Given the description of an element on the screen output the (x, y) to click on. 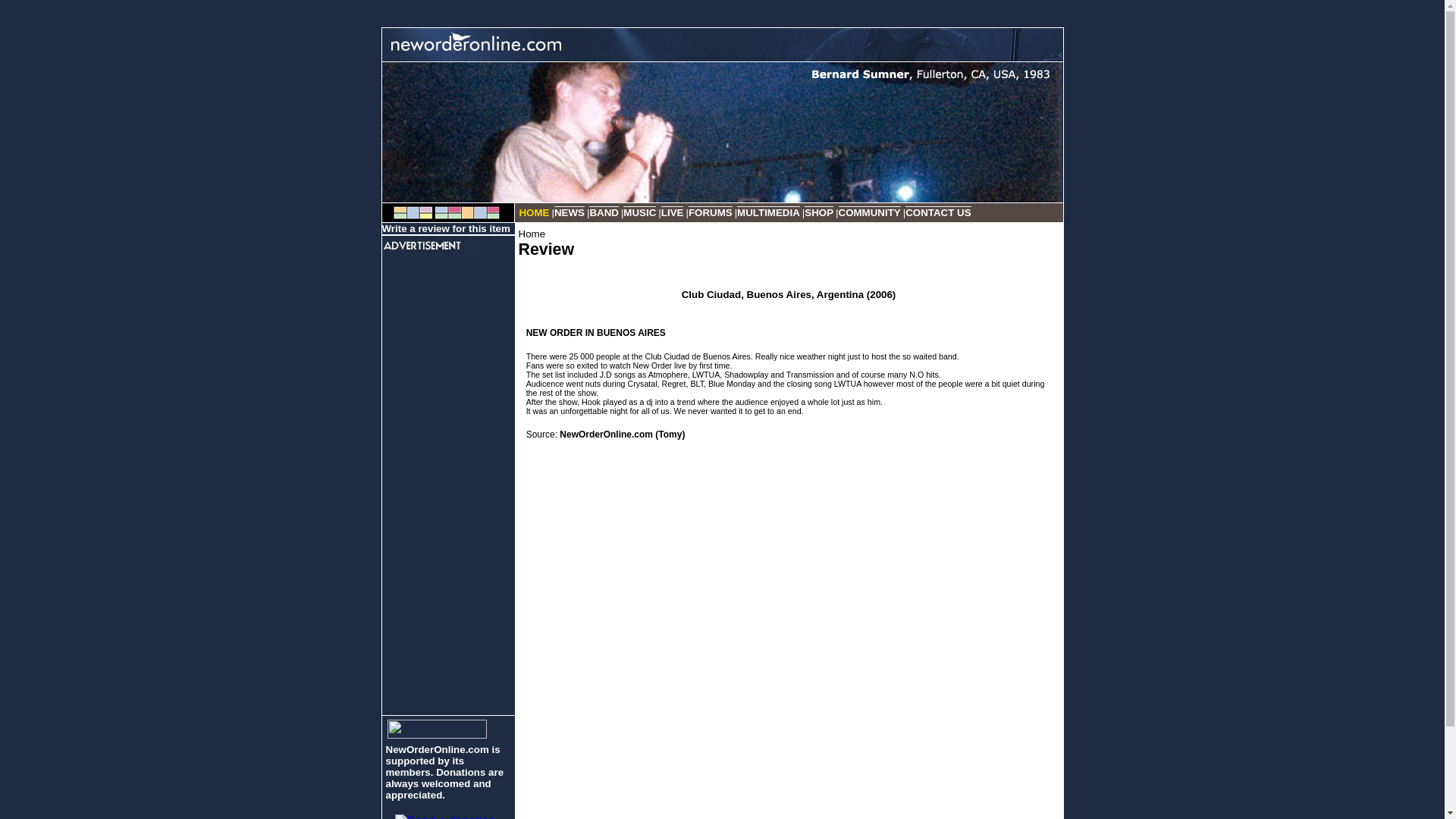
HOME (533, 212)
MULTIMEDIA (767, 212)
SHOP (818, 212)
LIVE (672, 212)
MUSIC (639, 212)
BAND (603, 212)
FORUMS (710, 212)
New Order (447, 212)
NEWS (569, 212)
Write a review for this item (446, 228)
